Given the description of an element on the screen output the (x, y) to click on. 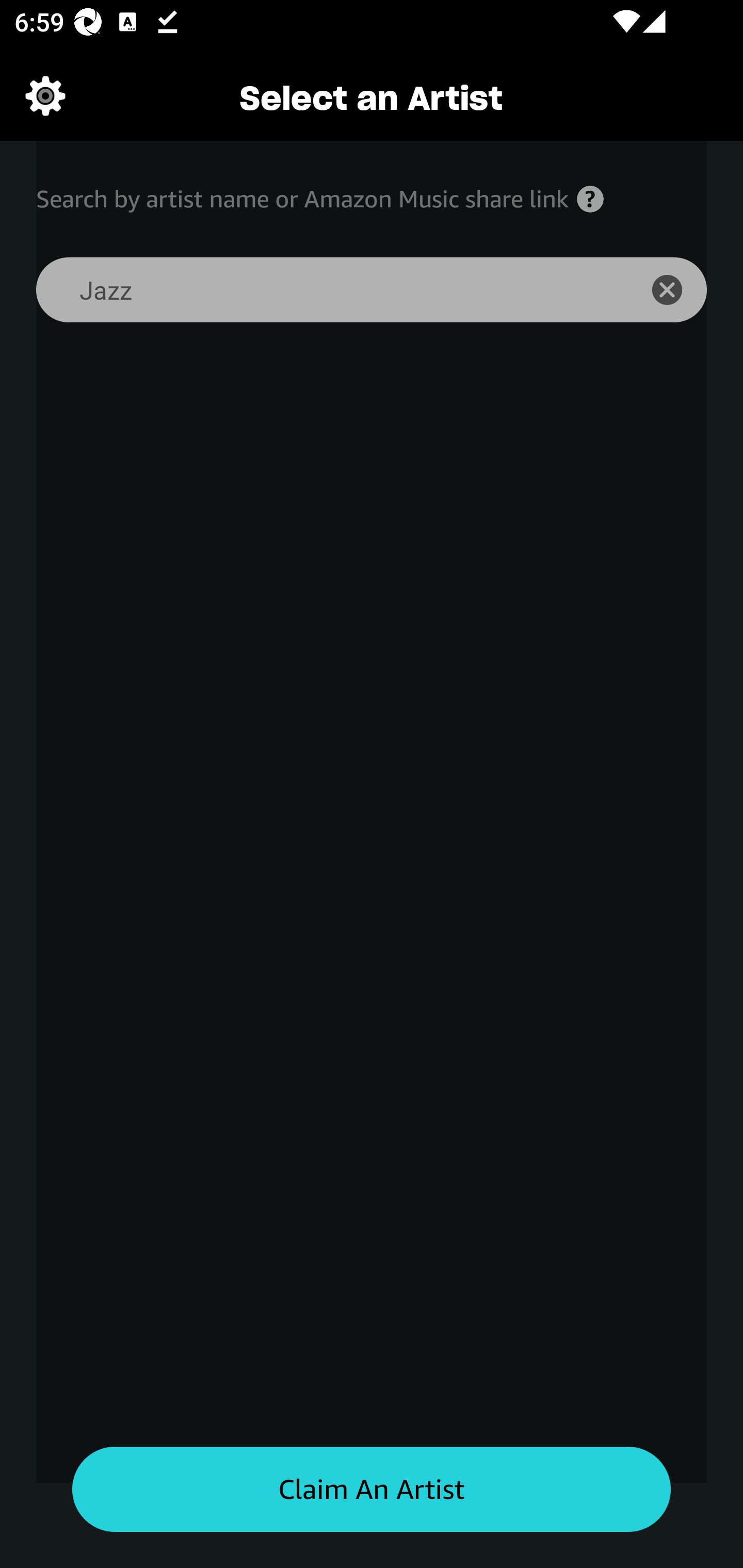
Help  icon (589, 199)
Jazz Search for an artist search bar (324, 290)
 icon (677, 290)
Claim an artist button Claim An Artist (371, 1489)
